Given the description of an element on the screen output the (x, y) to click on. 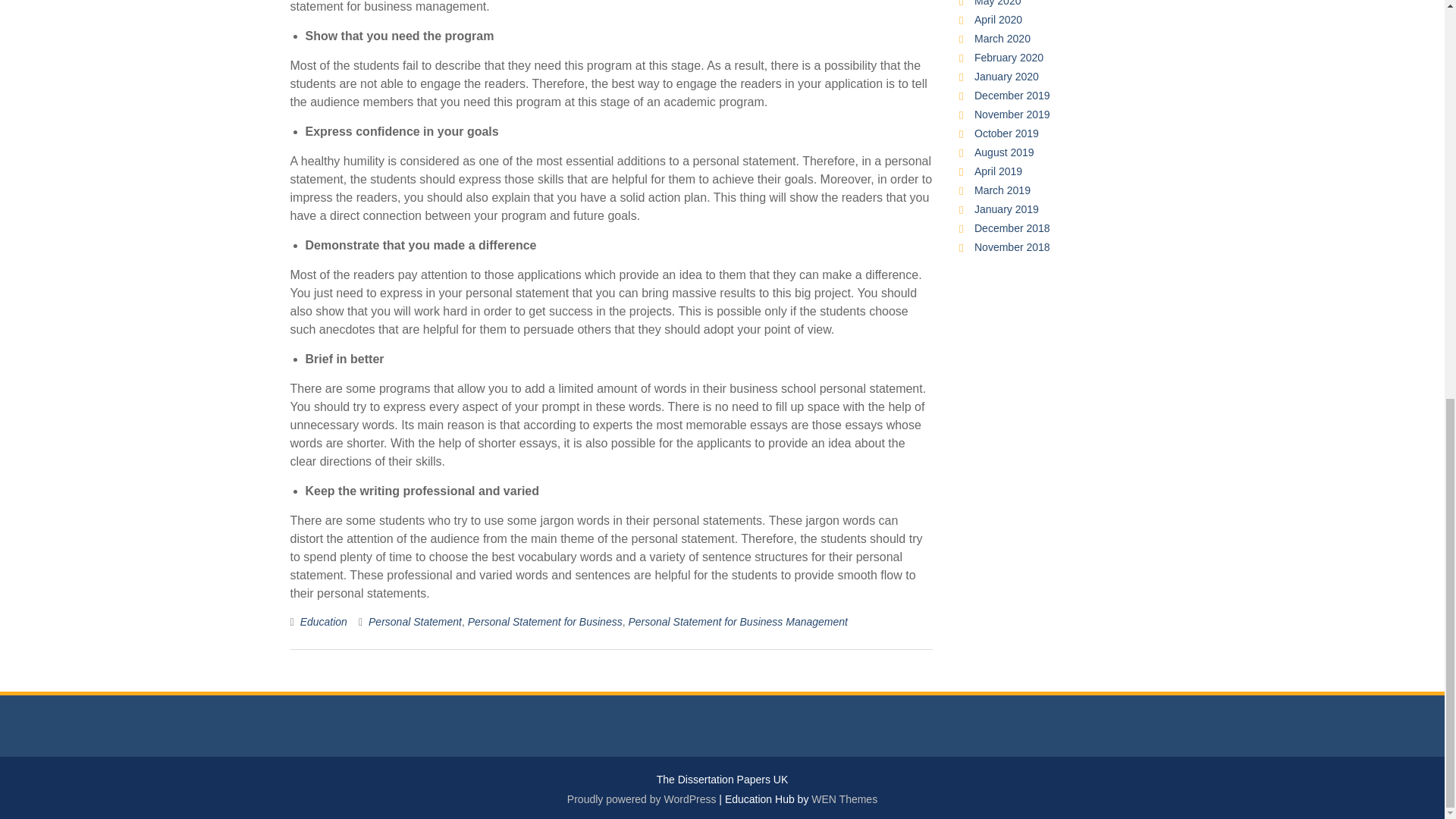
Personal Statement for Business (545, 621)
Education (323, 621)
Personal Statement (414, 621)
Personal Statement for Business Management (737, 621)
